Given the description of an element on the screen output the (x, y) to click on. 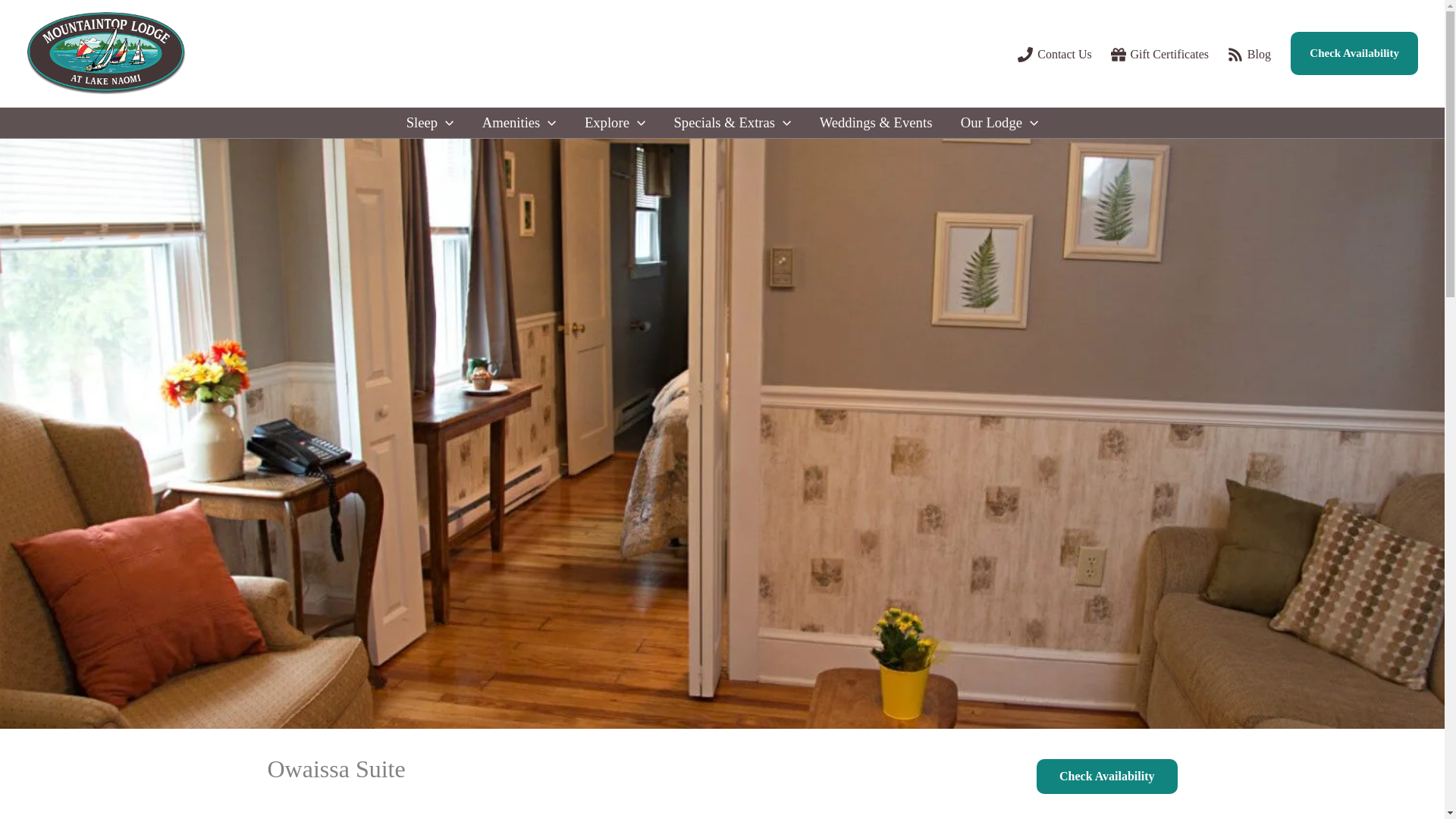
Our Lodge (999, 122)
Contact Us (1054, 54)
Blog (1249, 54)
Check Availability (1354, 53)
Amenities (518, 122)
Sleep (429, 122)
Gift Certificates (1158, 54)
Explore (614, 122)
